Given the description of an element on the screen output the (x, y) to click on. 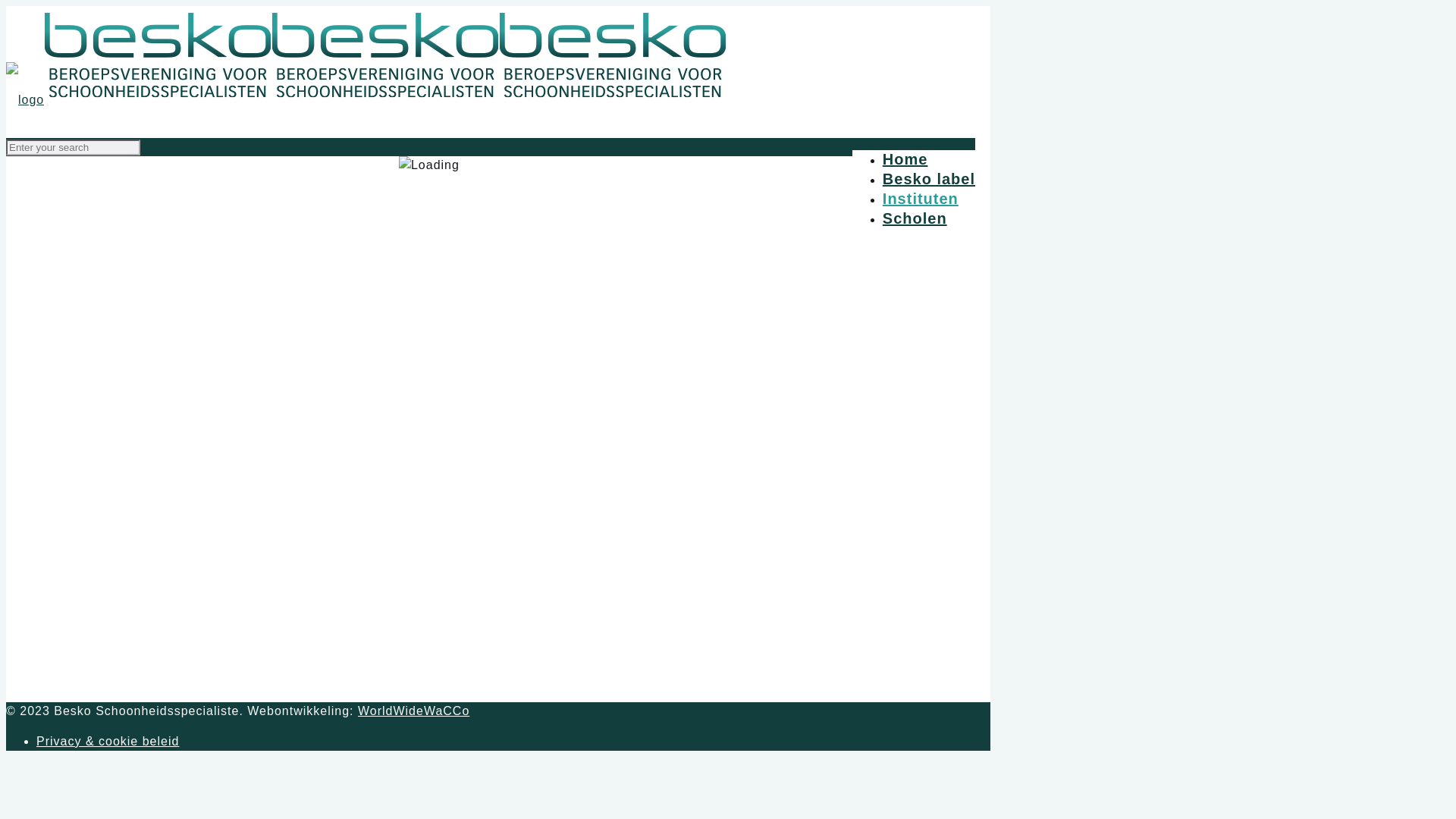
Home Element type: text (905, 159)
Besko label Element type: text (928, 178)
Scholen Element type: text (914, 218)
Privacy & cookie beleid Element type: text (107, 740)
WorldWideWaCCo Element type: text (413, 710)
Besko Schoonheidsspecialiste Element type: hover (366, 99)
Instituten Element type: text (920, 198)
